Given the description of an element on the screen output the (x, y) to click on. 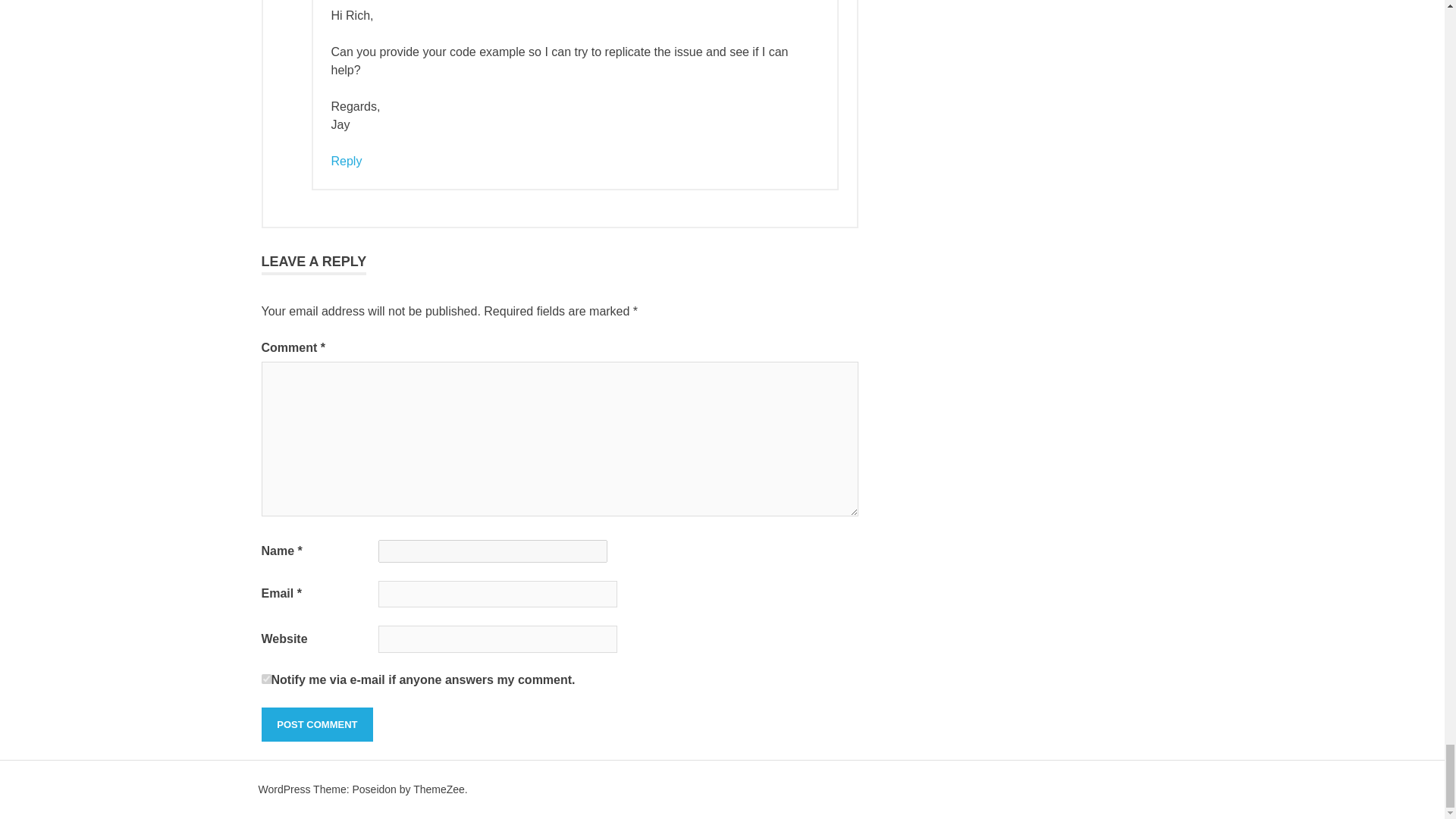
Post Comment (316, 724)
on (265, 678)
Post Comment (316, 724)
Reply (345, 160)
